Given the description of an element on the screen output the (x, y) to click on. 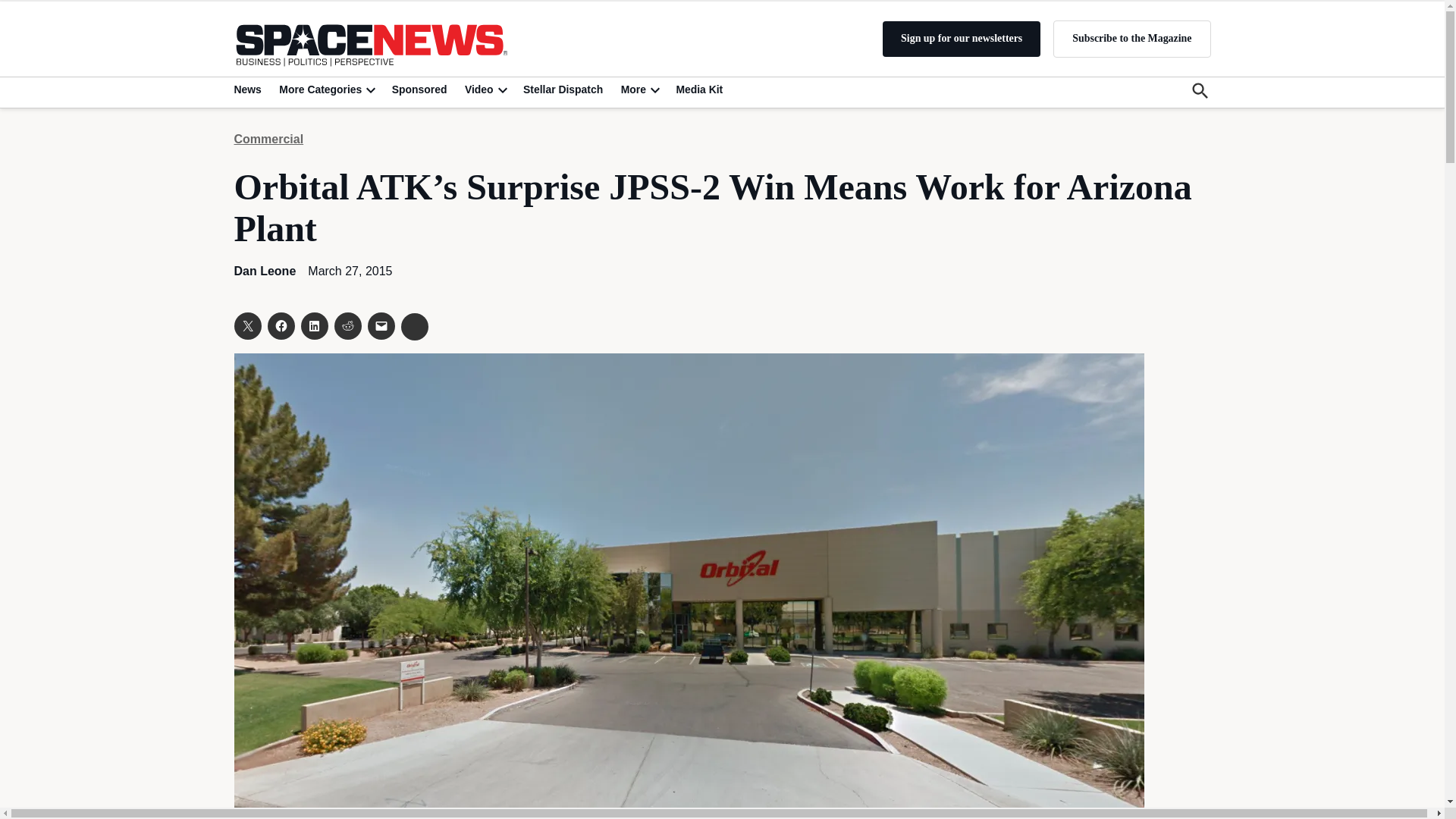
Click to share on LinkedIn (313, 325)
Click to share on Reddit (347, 325)
Click to share on X (246, 325)
Click to share on Clipboard (414, 326)
Subscribe to the Magazine (1130, 38)
Sign up for our newsletters (961, 38)
Click to share on Facebook (280, 325)
Click to email a link to a friend (380, 325)
